Given the description of an element on the screen output the (x, y) to click on. 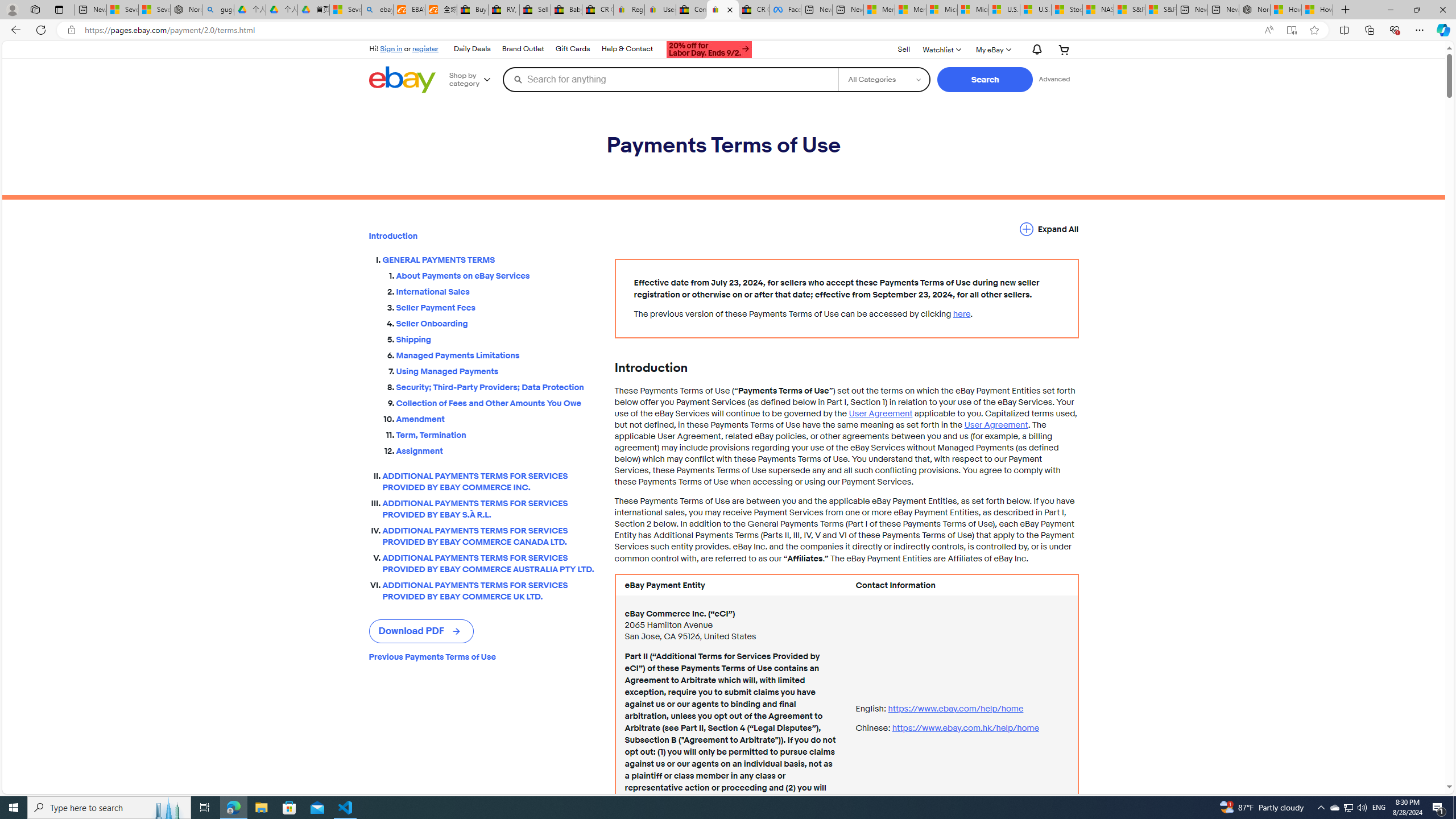
Expand Cart (1064, 49)
Sign in (391, 48)
Term, Termination (496, 433)
Assignment (496, 448)
Previous Payments Terms of Use (482, 657)
Payments Terms of Use | eBay.com (722, 9)
eBay Home (401, 79)
Using Managed Payments (496, 371)
Help & Contact (626, 49)
